Given the description of an element on the screen output the (x, y) to click on. 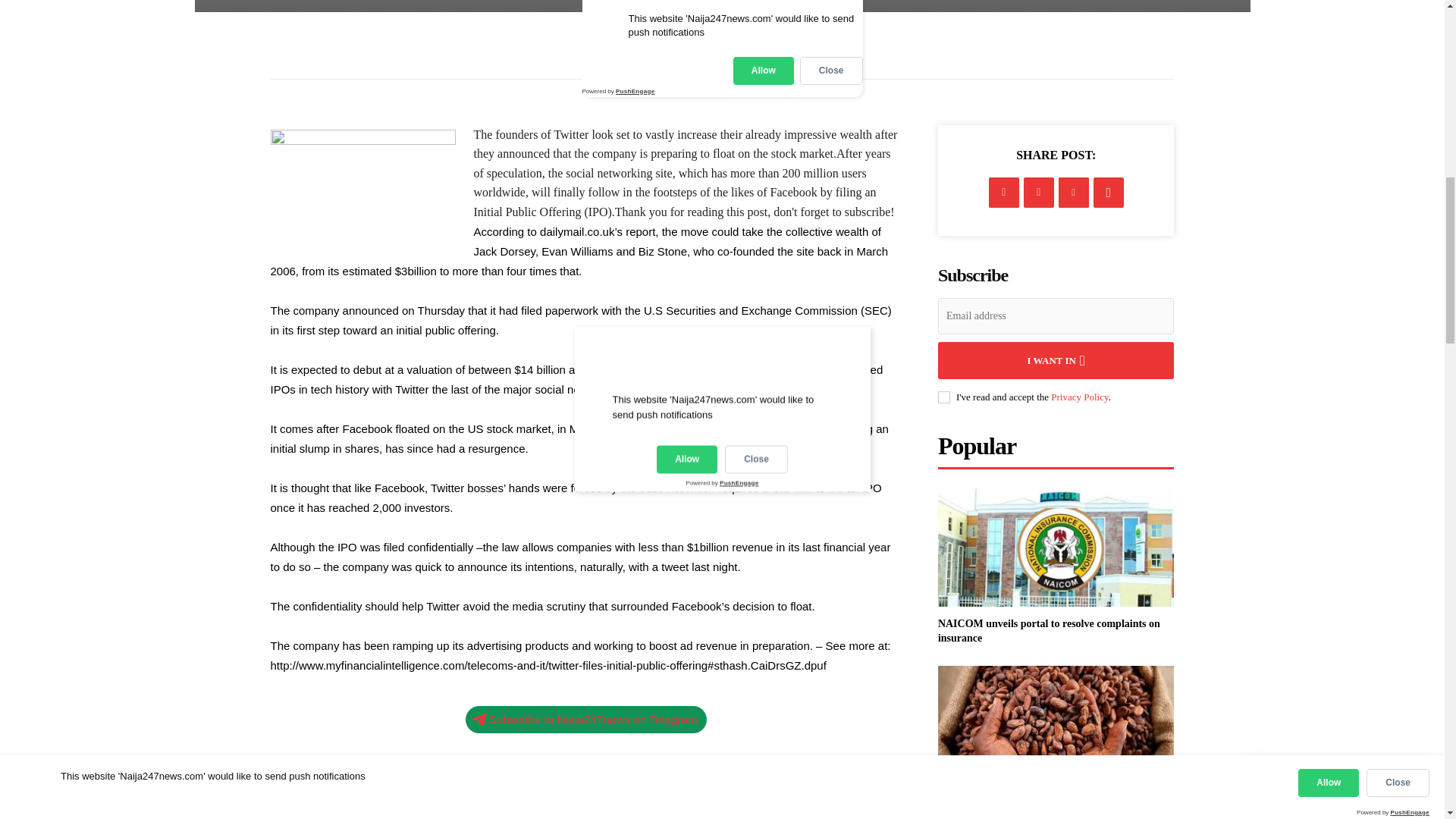
NAICOM unveils portal to resolve complaints on insurance (1055, 547)
Pinterest (1073, 192)
WhatsApp (1108, 192)
Facebook (1003, 192)
Babatunde Akinsola (661, 49)
Twitter (1038, 192)
